Given the description of an element on the screen output the (x, y) to click on. 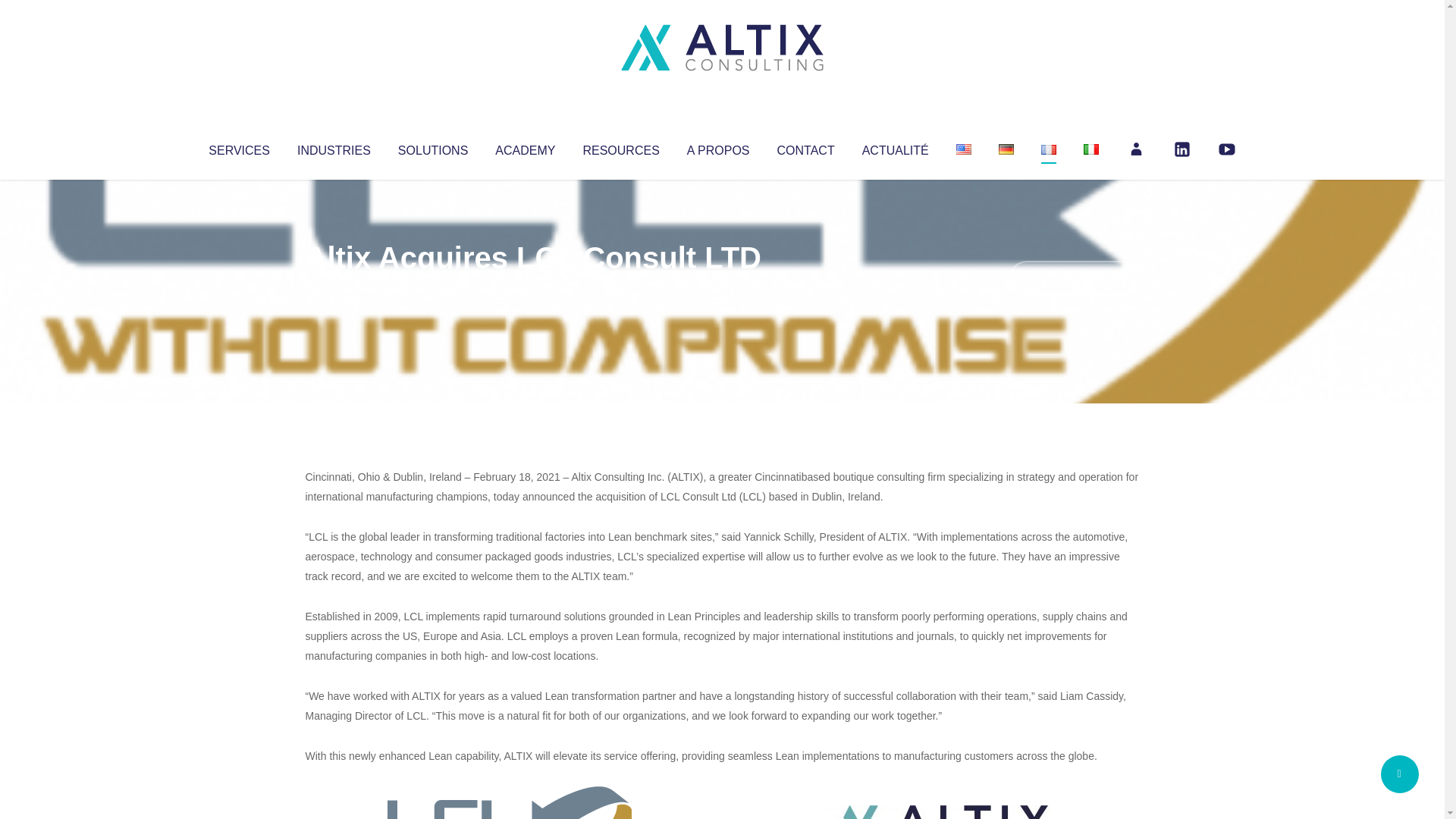
Uncategorized (530, 287)
INDUSTRIES (334, 146)
ACADEMY (524, 146)
No Comments (1073, 278)
A PROPOS (718, 146)
Altix (333, 287)
Articles par Altix (333, 287)
RESOURCES (620, 146)
SOLUTIONS (432, 146)
SERVICES (238, 146)
